Given the description of an element on the screen output the (x, y) to click on. 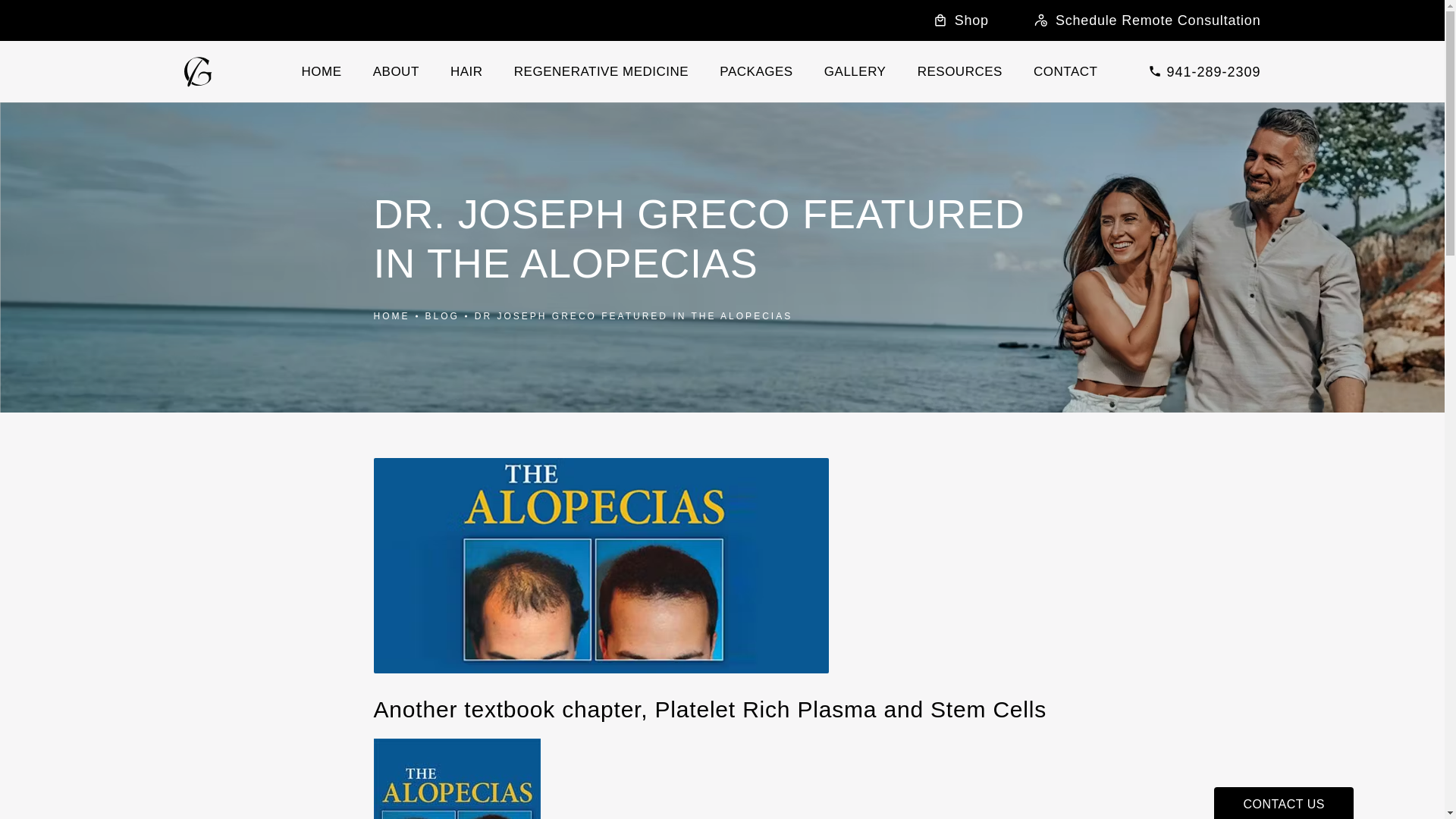
Schedule Remote Consultation (1146, 20)
ABOUT (395, 71)
HOME (321, 71)
HAIR (466, 71)
REGENERATIVE MEDICINE (600, 71)
Shop (960, 20)
